Given the description of an element on the screen output the (x, y) to click on. 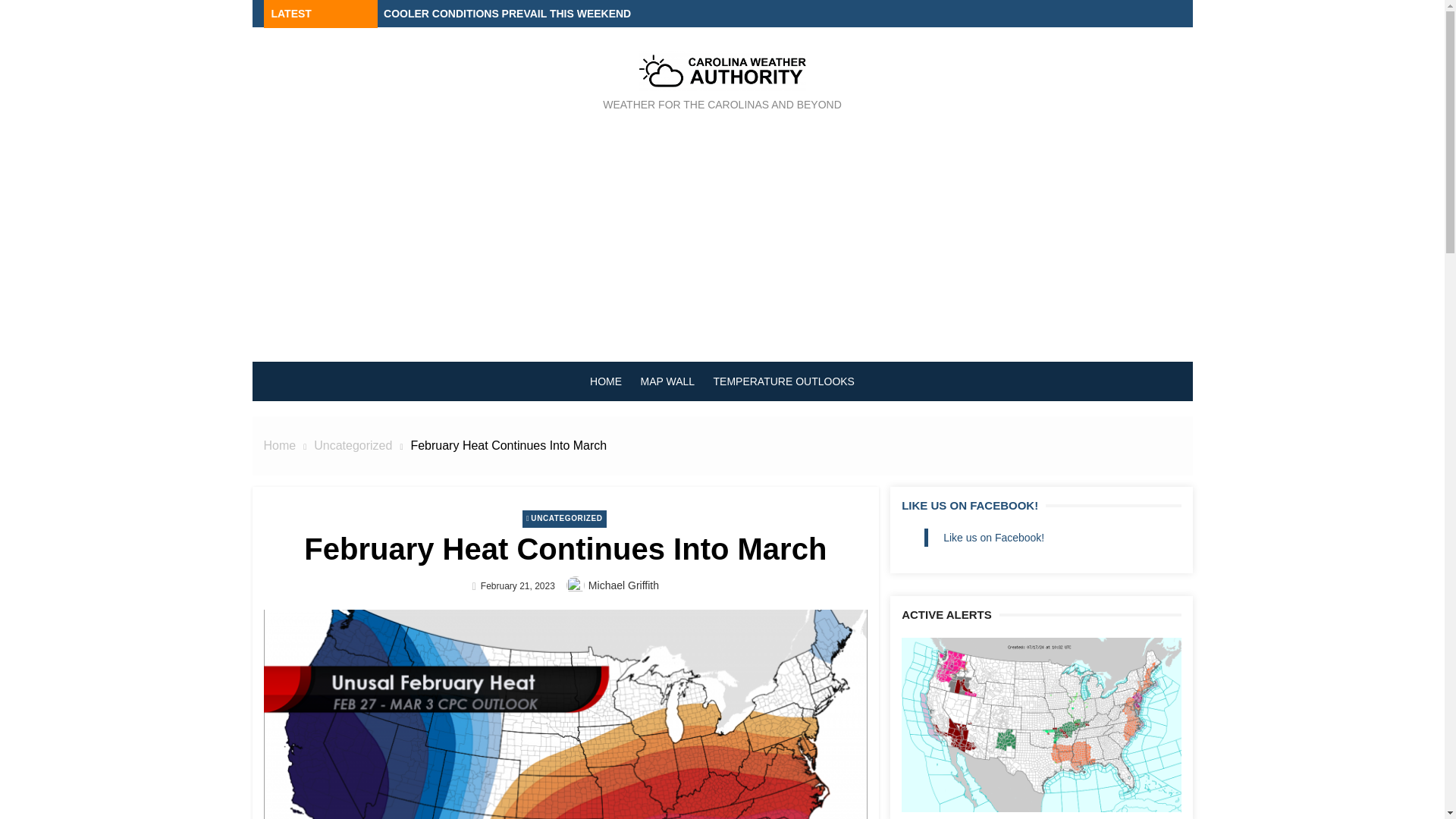
HOME (605, 381)
COOLER CONDITIONS PREVAIL THIS WEEKEND (507, 13)
Uncategorized (352, 445)
Michael Griffith (623, 585)
MAP WALL (666, 381)
February 21, 2023 (517, 585)
TEMPERATURE OUTLOOKS (783, 381)
Home (280, 445)
UNCATEGORIZED (564, 518)
